Given the description of an element on the screen output the (x, y) to click on. 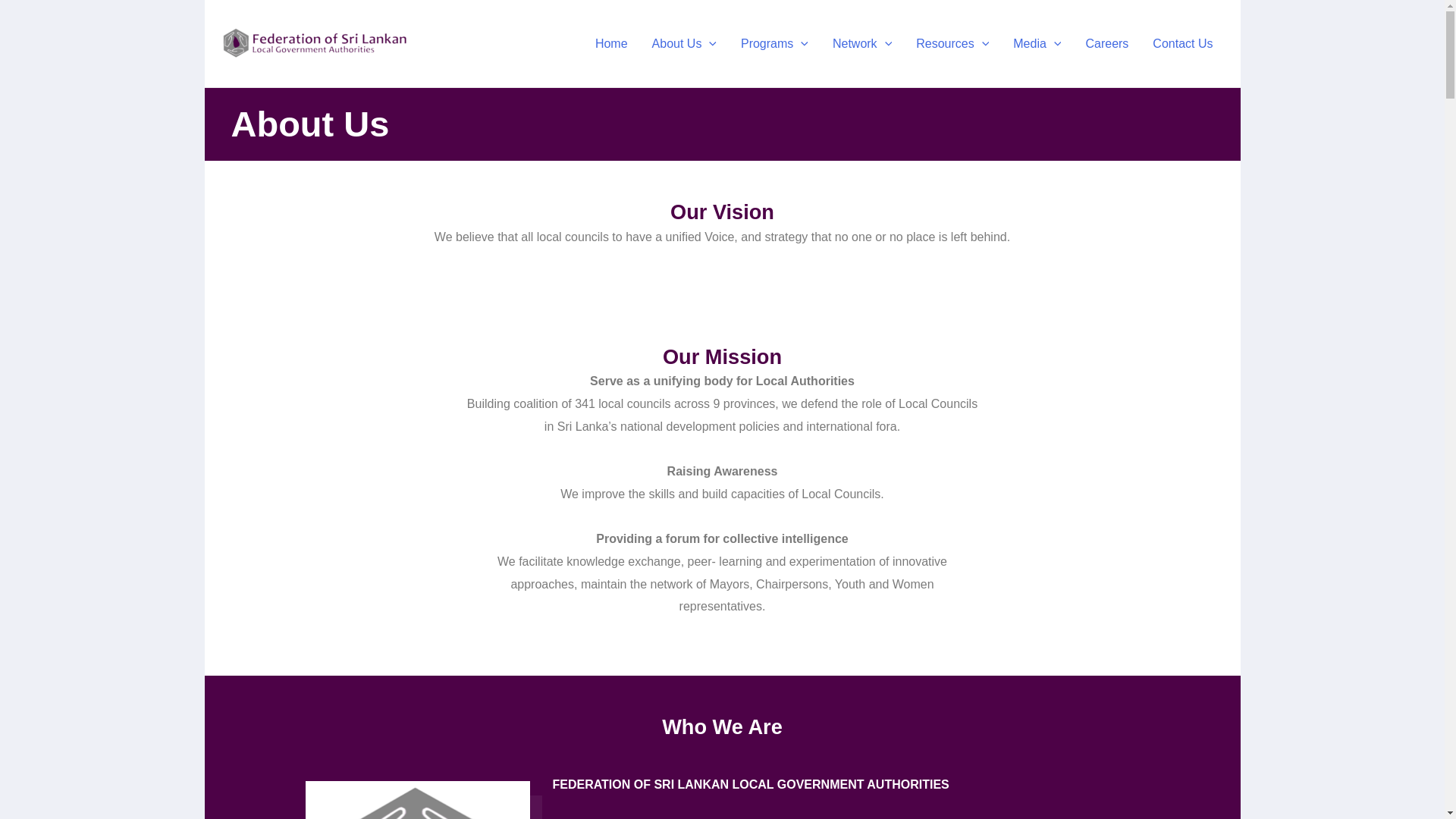
Network (862, 42)
Programs (775, 42)
Resources (952, 42)
Contact Us (1182, 42)
About Us (684, 42)
Careers (1106, 42)
Home (611, 42)
Media (1037, 42)
